Given the description of an element on the screen output the (x, y) to click on. 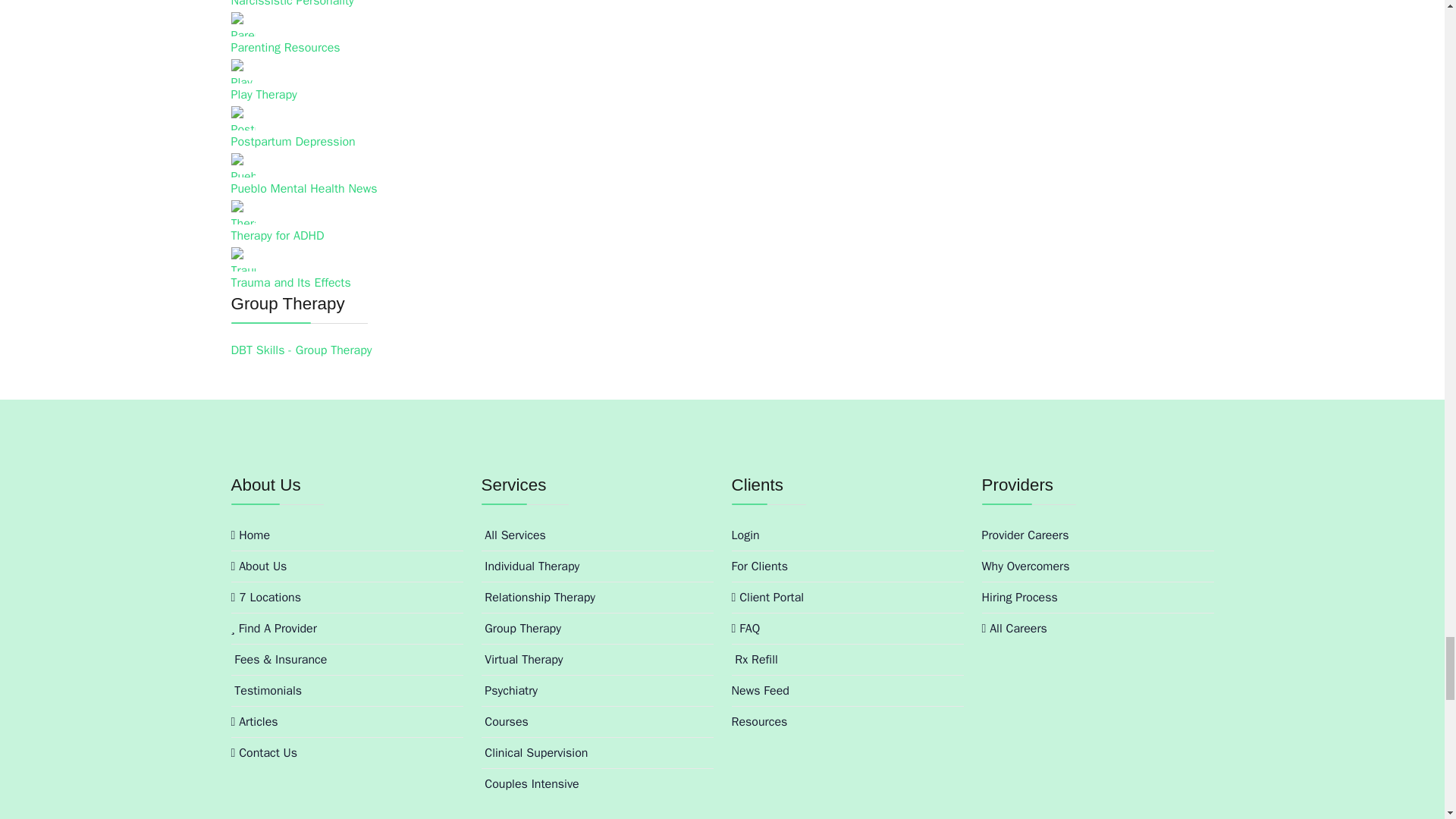
DBT Skills - Group Therapy (300, 350)
